Given the description of an element on the screen output the (x, y) to click on. 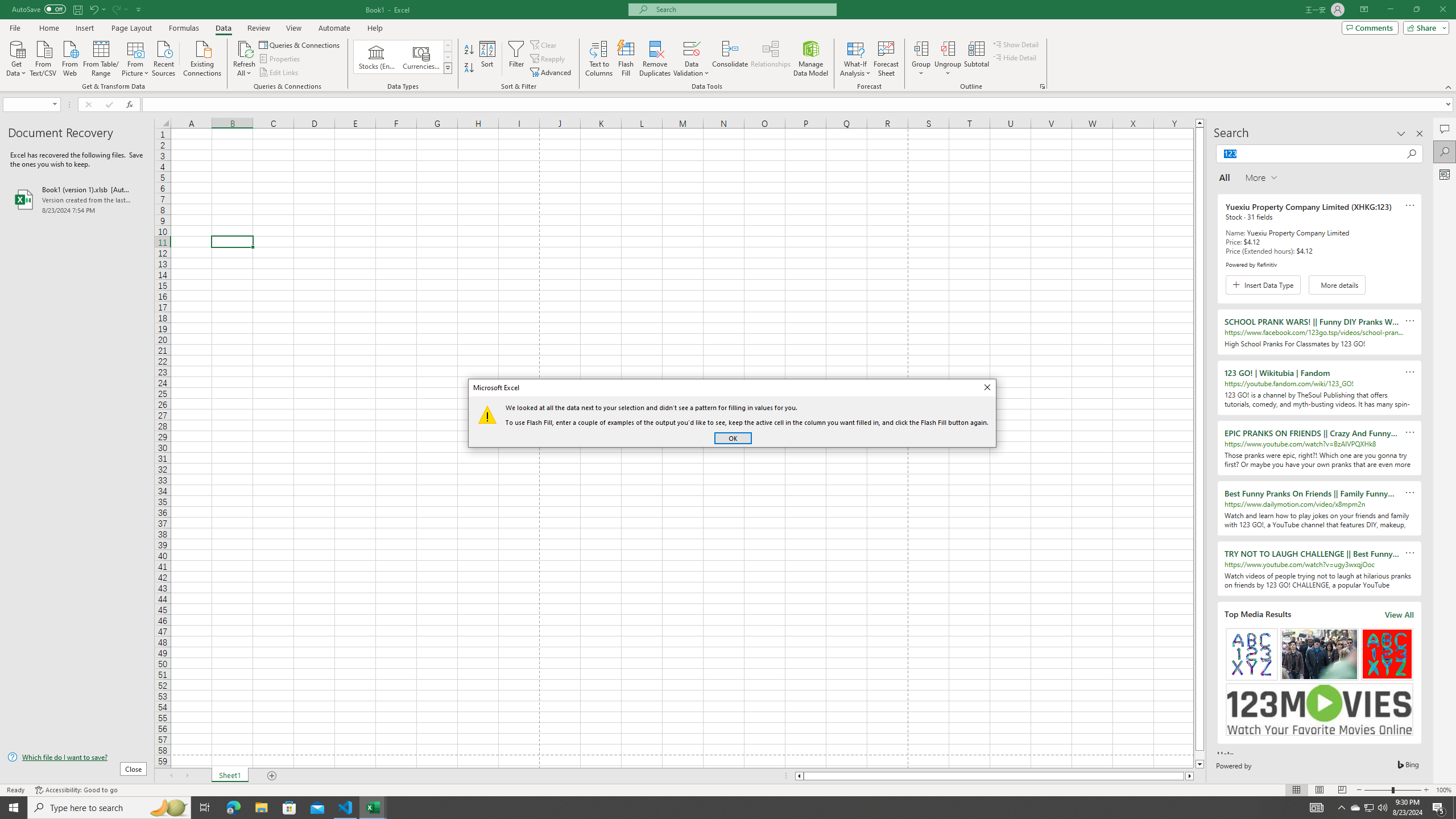
Microsoft Edge (233, 807)
Properties (280, 58)
